Given the description of an element on the screen output the (x, y) to click on. 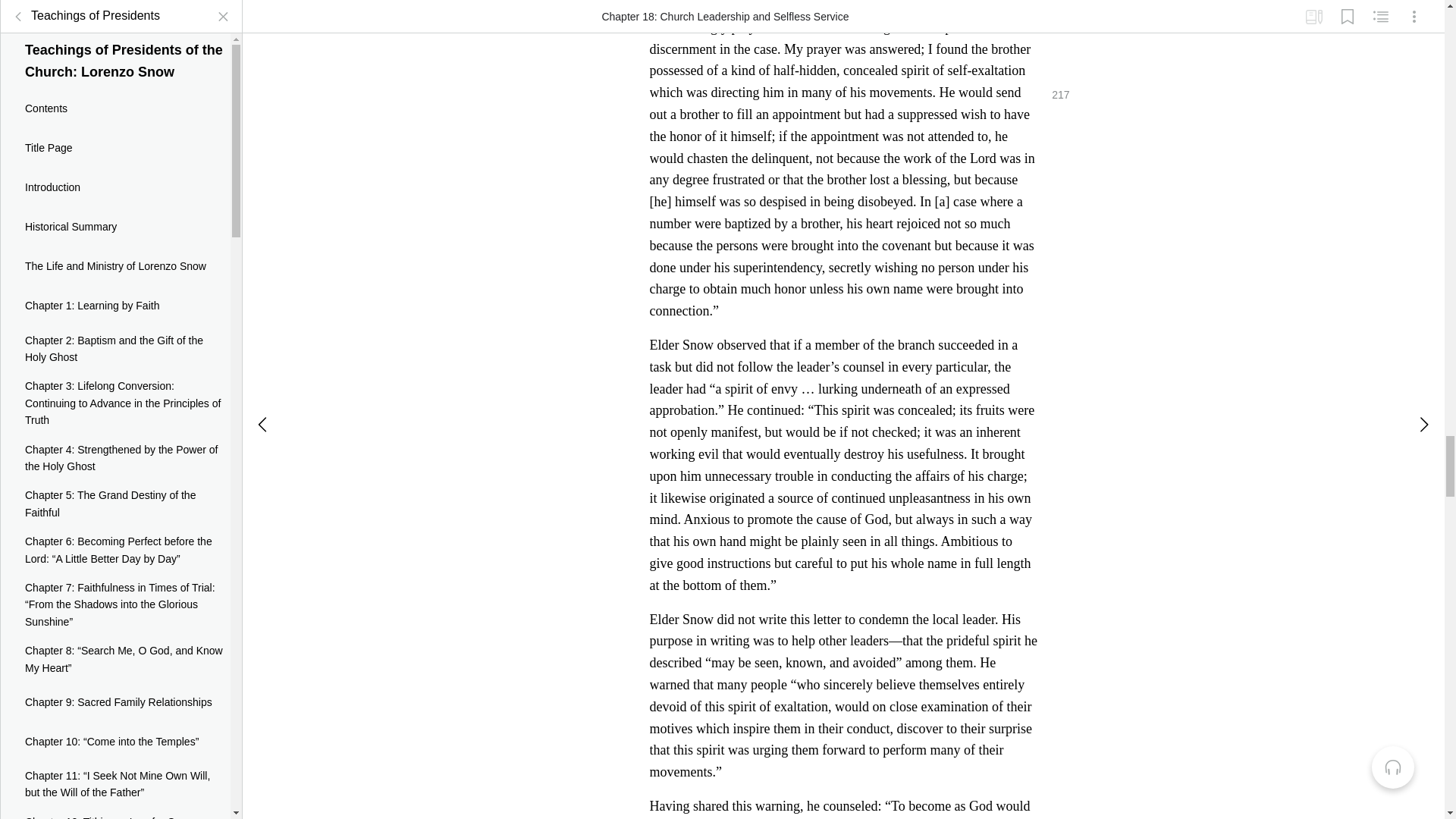
Chapter 20: The Kingdom of God Moves Forward (115, 361)
Index (115, 576)
Chapter 13: Relief Society: True Charity and Pure Religion (115, 45)
Chapter 24: Reflections on the Mission of Jesus Christ (115, 533)
Chapter 22: Doing Good to Others (115, 450)
Chapter 21: Loving God More Than We Love the World (115, 407)
Chapter 18: Church Leadership and Selfless Service (115, 270)
Chapter 23: The Prophet Joseph Smith (115, 490)
